Given the description of an element on the screen output the (x, y) to click on. 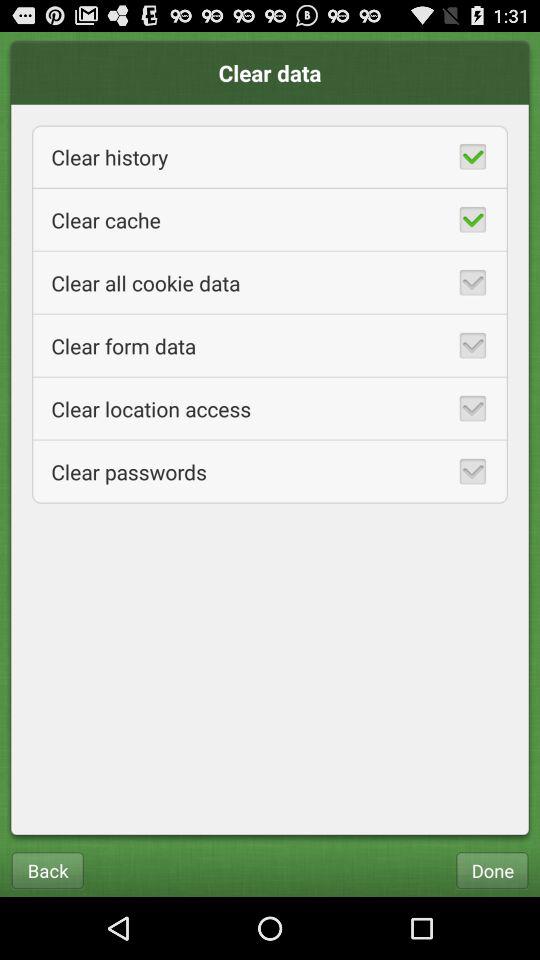
click the clear cache (269, 219)
